Given the description of an element on the screen output the (x, y) to click on. 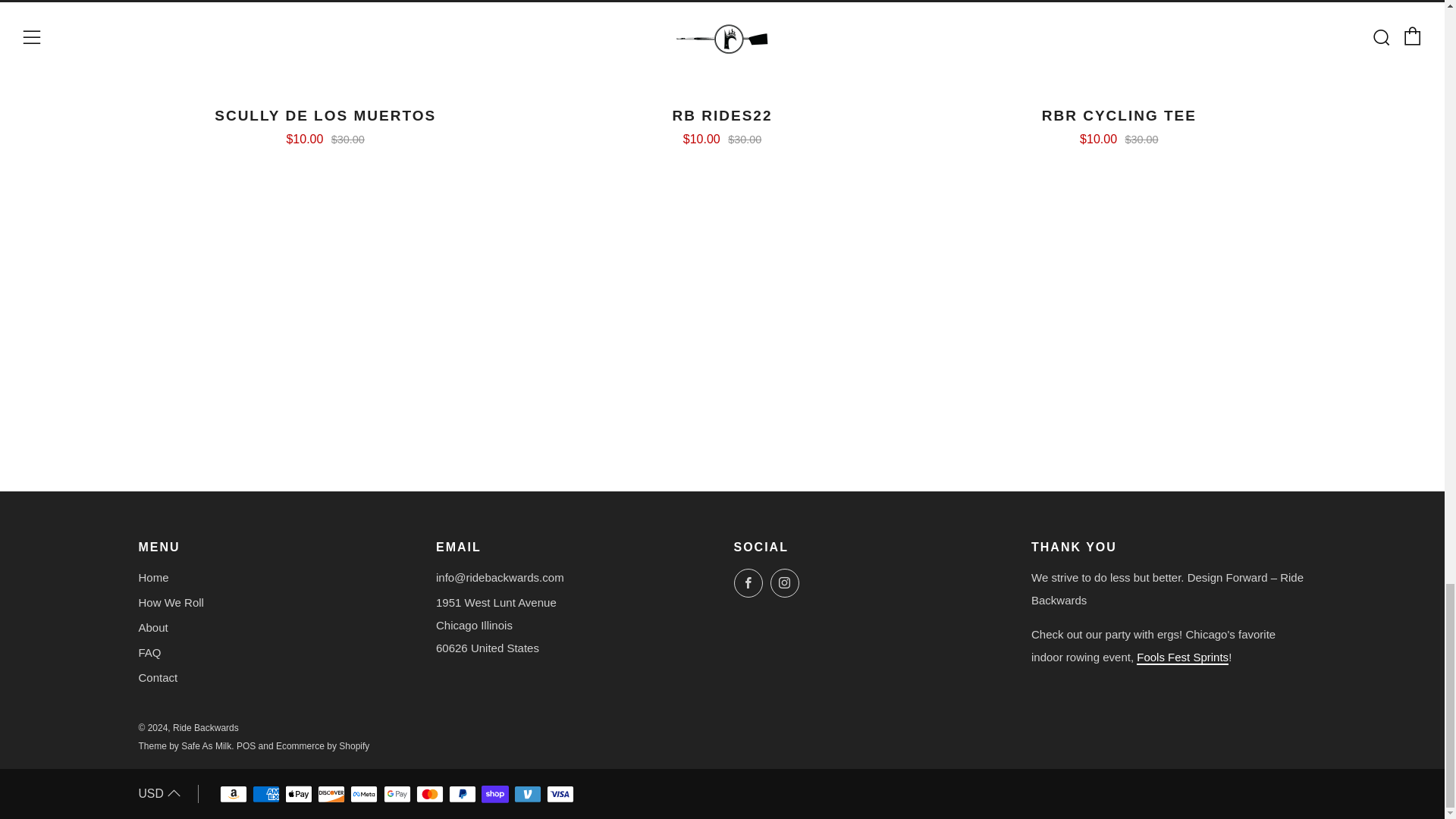
Mastercard (430, 794)
Amazon (233, 794)
Google Pay (397, 794)
RB Rides22 (721, 124)
Venmo (527, 794)
Meta Pay (363, 794)
Discover (331, 794)
PayPal (462, 794)
Scully de los Muertos (325, 124)
American Express (265, 794)
Shop Pay (494, 794)
RBR Cycling Tee (1118, 124)
Apple Pay (299, 794)
Visa (560, 794)
